Given the description of an element on the screen output the (x, y) to click on. 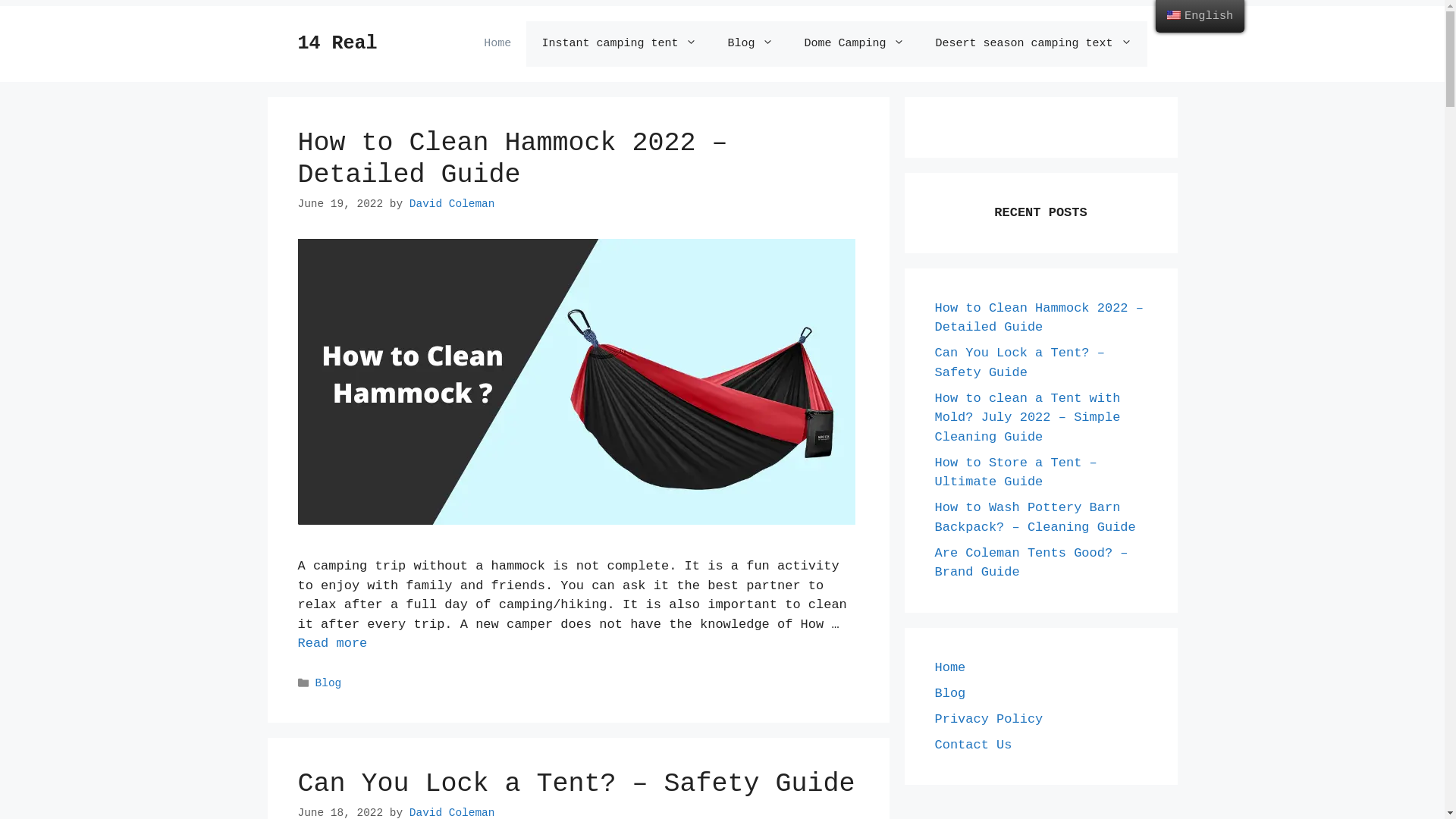
Contact Us Element type: text (972, 744)
Instant camping tent Element type: text (619, 43)
Home Element type: text (497, 43)
David Coleman Element type: text (452, 203)
Blog Element type: text (949, 692)
Home Element type: text (949, 666)
Blog Element type: text (328, 683)
Desert season camping text Element type: text (1032, 43)
Privacy Policy Element type: text (988, 718)
Read more Element type: text (332, 643)
14 Real Element type: text (336, 43)
English Element type: hover (1173, 14)
Dome Camping Element type: text (853, 43)
English Element type: text (1199, 16)
Blog Element type: text (750, 43)
